Given the description of an element on the screen output the (x, y) to click on. 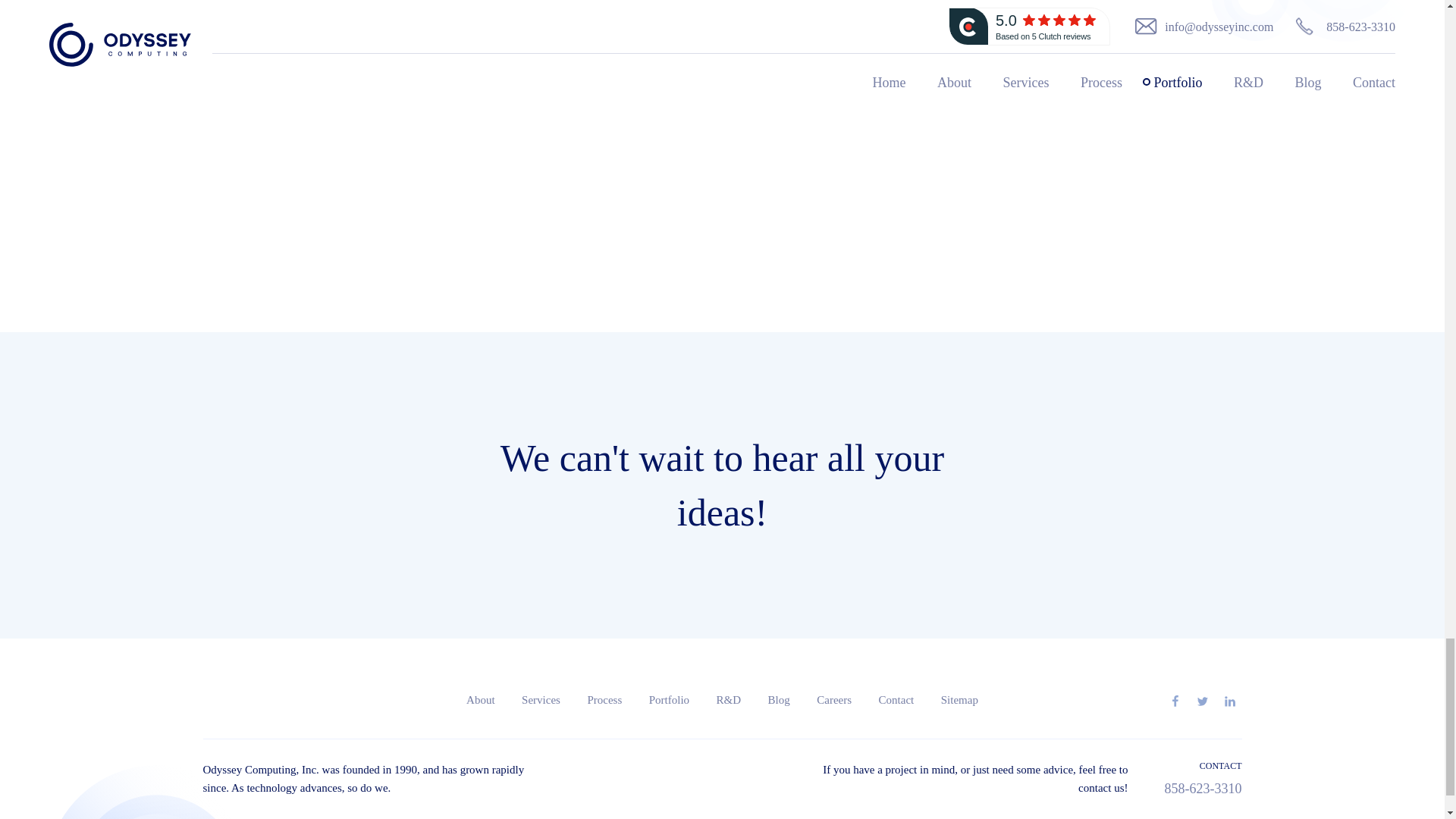
Process (604, 699)
Services (540, 699)
About (480, 699)
